Given the description of an element on the screen output the (x, y) to click on. 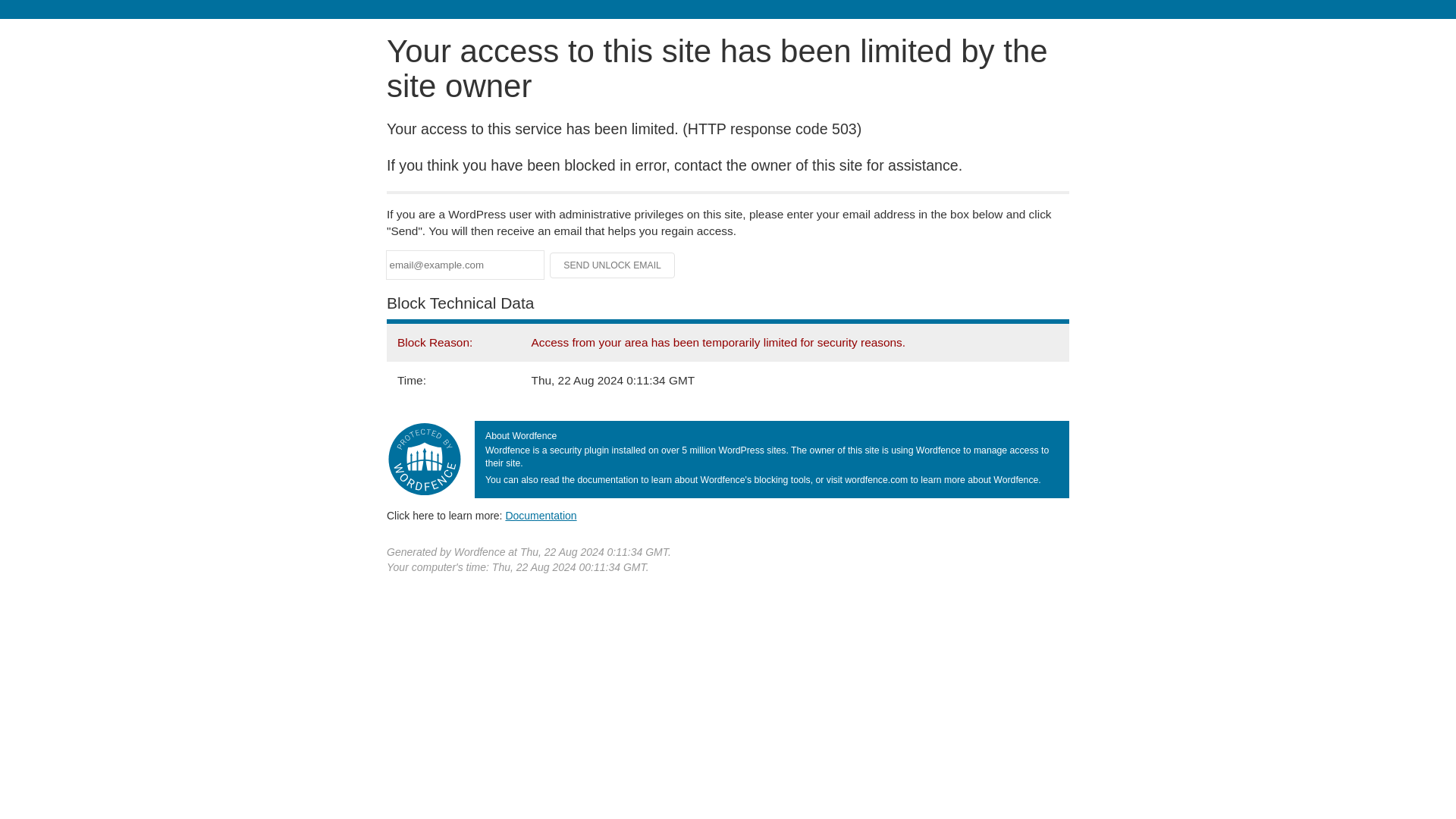
Send Unlock Email (612, 265)
Send Unlock Email (612, 265)
Documentation (540, 515)
